Given the description of an element on the screen output the (x, y) to click on. 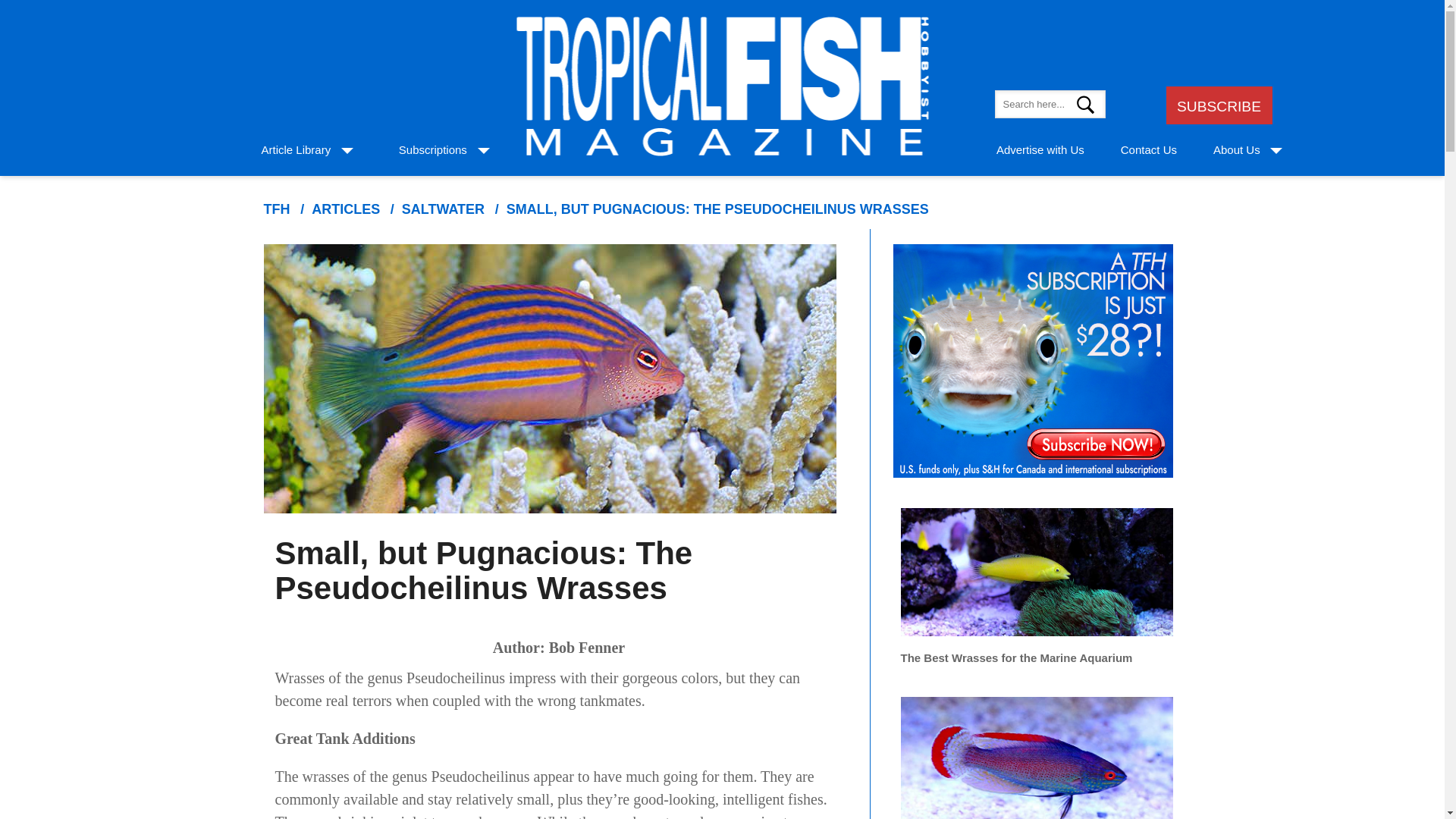
Contact Us (1148, 149)
saltwater (442, 209)
Cirrhilabrus: The Fairy Wrasses (1037, 750)
articles (345, 209)
SUBSCRIBE (1218, 106)
Home (276, 209)
TFH (276, 209)
Subscriptions (432, 149)
ARTICLES (345, 209)
About Us (1236, 149)
Advertise with Us (1039, 149)
Article Library (295, 149)
SALTWATER (442, 209)
SMALL, BUT PUGNACIOUS: THE PSEUDOCHEILINUS WRASSES (717, 209)
